Given the description of an element on the screen output the (x, y) to click on. 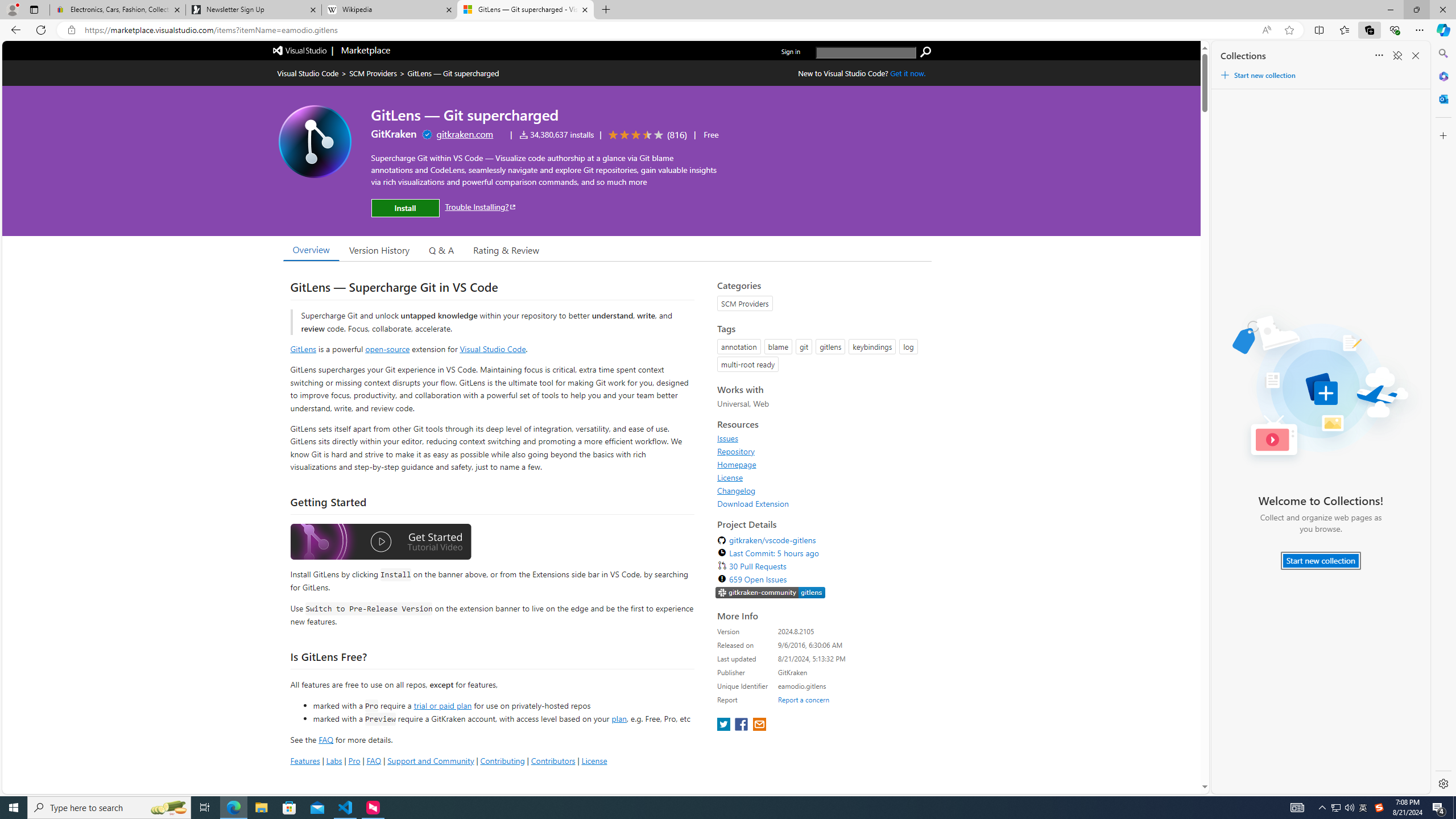
Sort (1379, 55)
More from GitKraken publisher (393, 133)
trial or paid plan (442, 704)
Average rating: 3.7 out of 5. Navigate to user reviews. (645, 134)
Changelog (736, 490)
License (820, 477)
Close Collections (1415, 55)
Repository (820, 451)
